Given the description of an element on the screen output the (x, y) to click on. 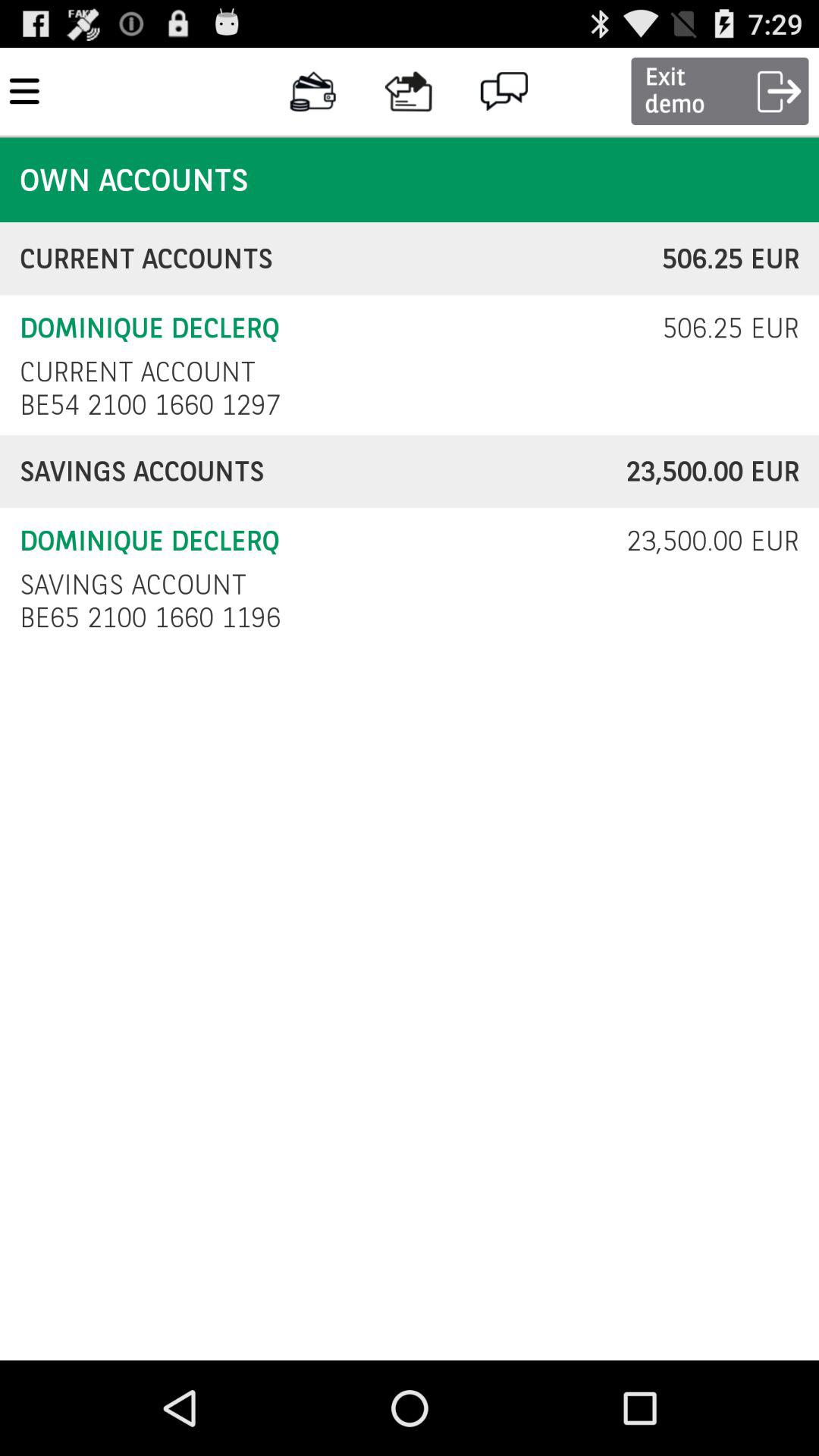
turn on savings account icon (132, 584)
